Given the description of an element on the screen output the (x, y) to click on. 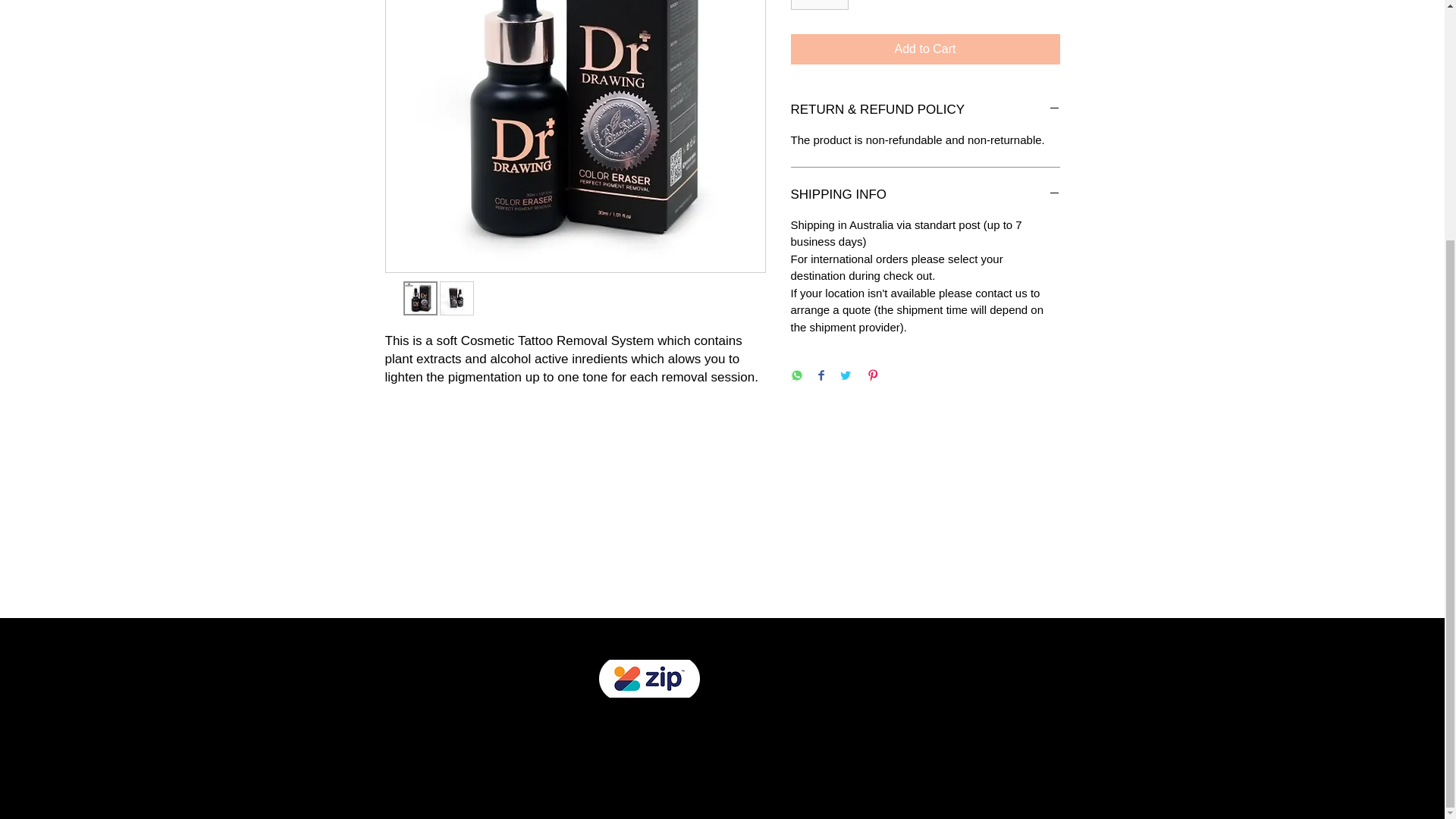
SHIPPING INFO (924, 194)
1 (818, 4)
Add to Cart (924, 49)
